Given the description of an element on the screen output the (x, y) to click on. 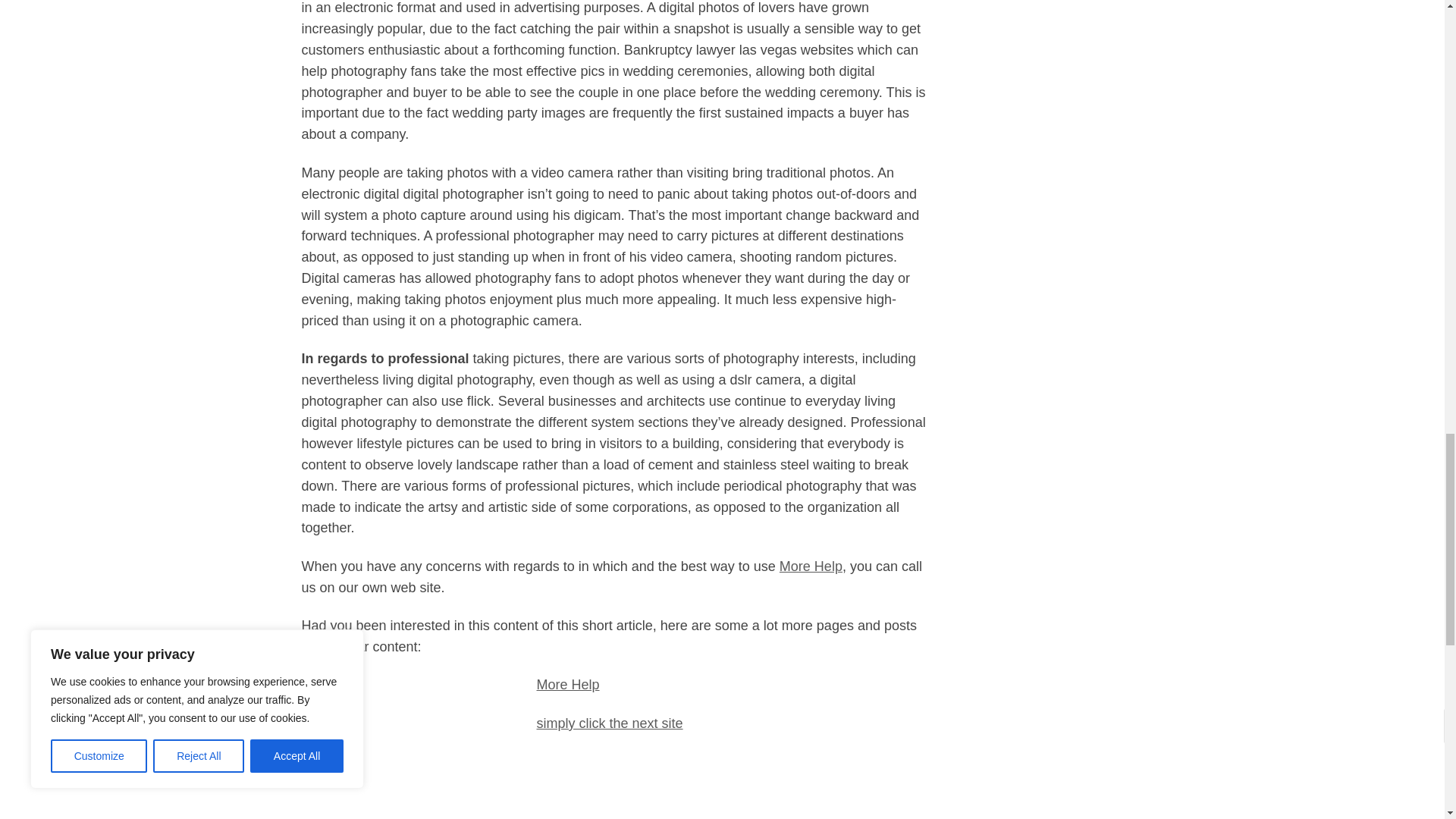
More Help (568, 684)
More Help (810, 566)
simply click the next site (609, 723)
